Given the description of an element on the screen output the (x, y) to click on. 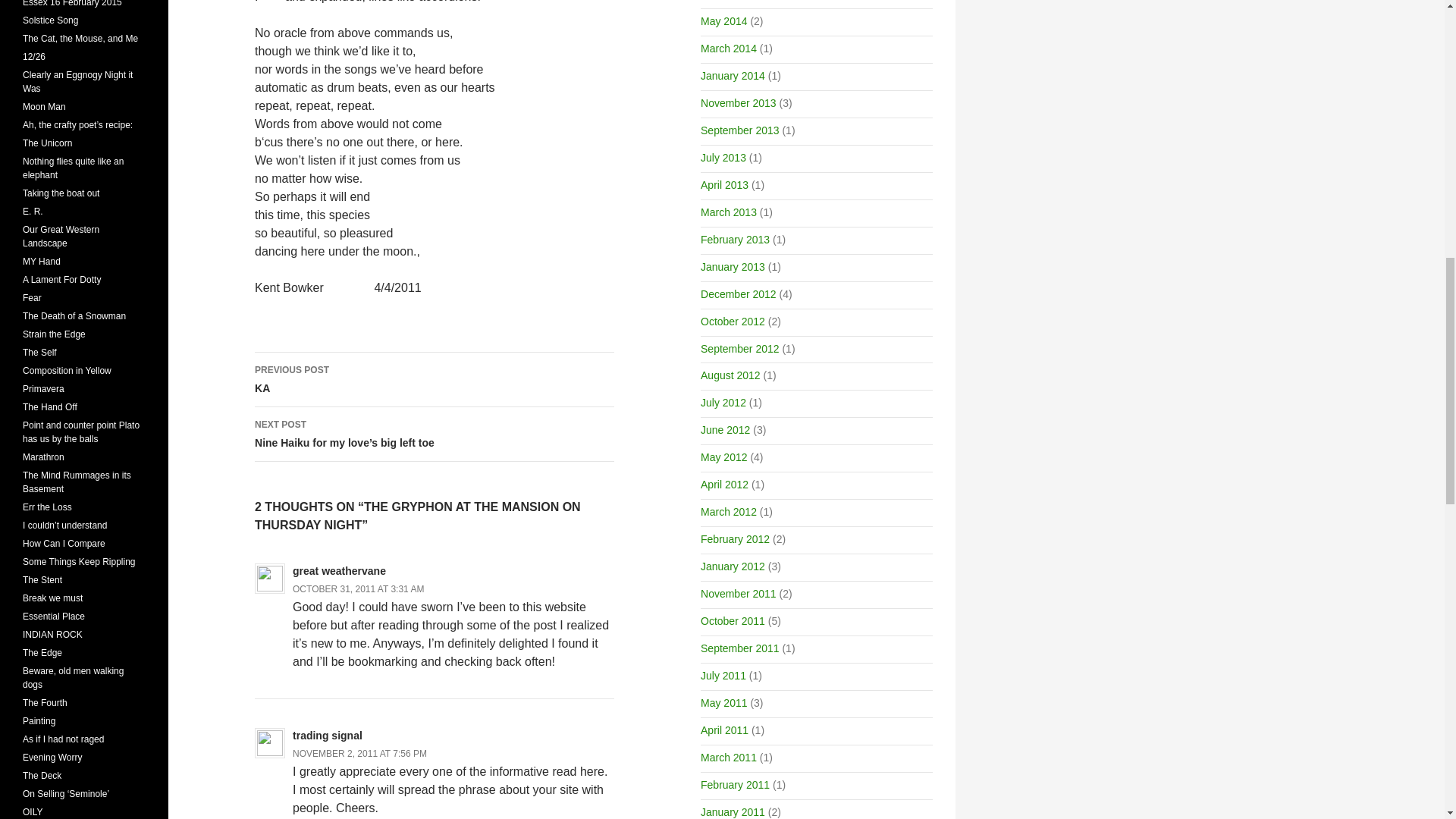
OCTOBER 31, 2011 AT 3:31 AM (357, 588)
trading signal (327, 735)
May 2014 (723, 21)
November 2013 (738, 102)
great weathervane (338, 571)
March 2014 (434, 379)
January 2014 (728, 48)
NOVEMBER 2, 2011 AT 7:56 PM (732, 75)
